Given the description of an element on the screen output the (x, y) to click on. 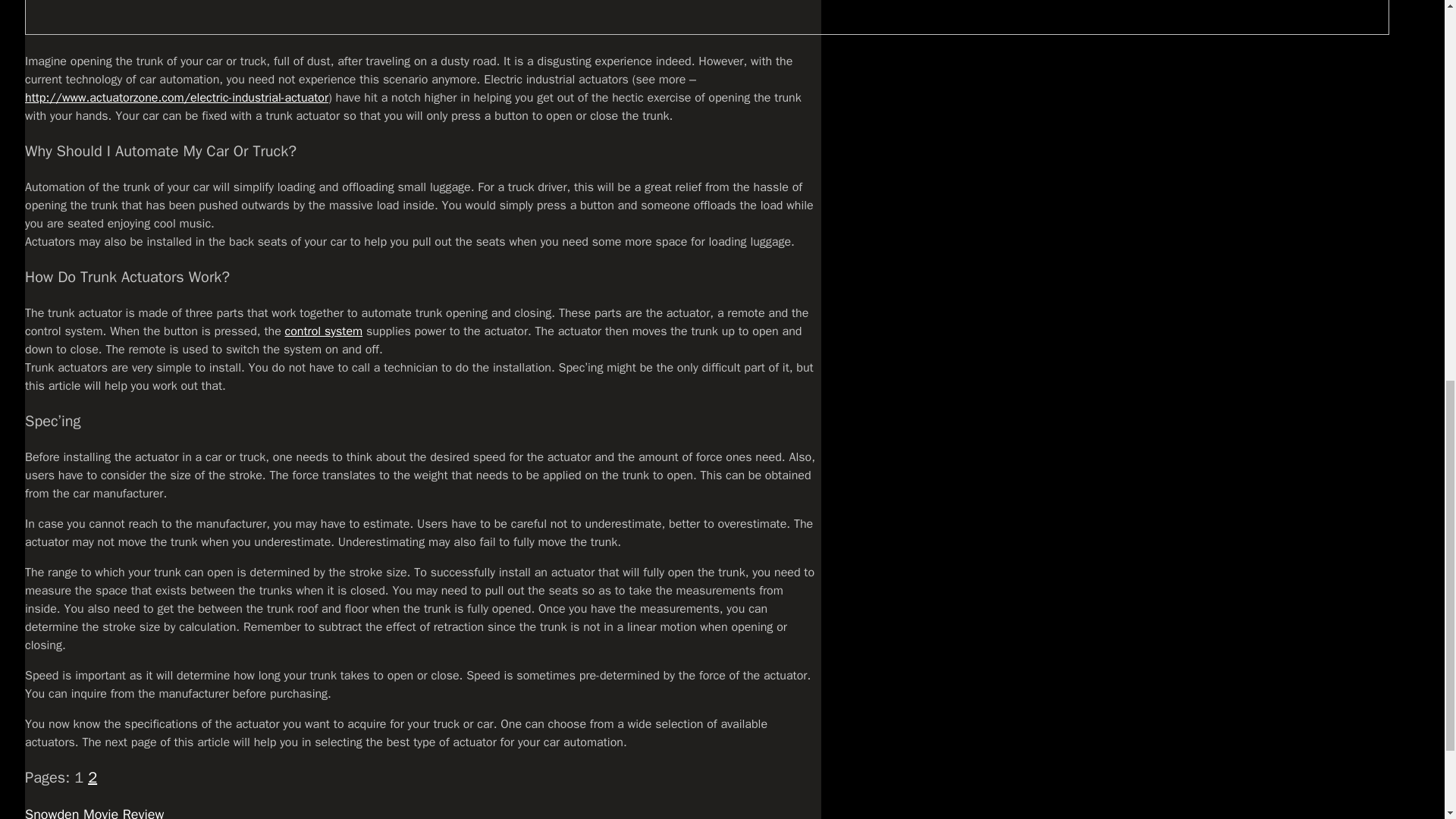
control system (323, 331)
Snowden Movie Review (93, 812)
